Given the description of an element on the screen output the (x, y) to click on. 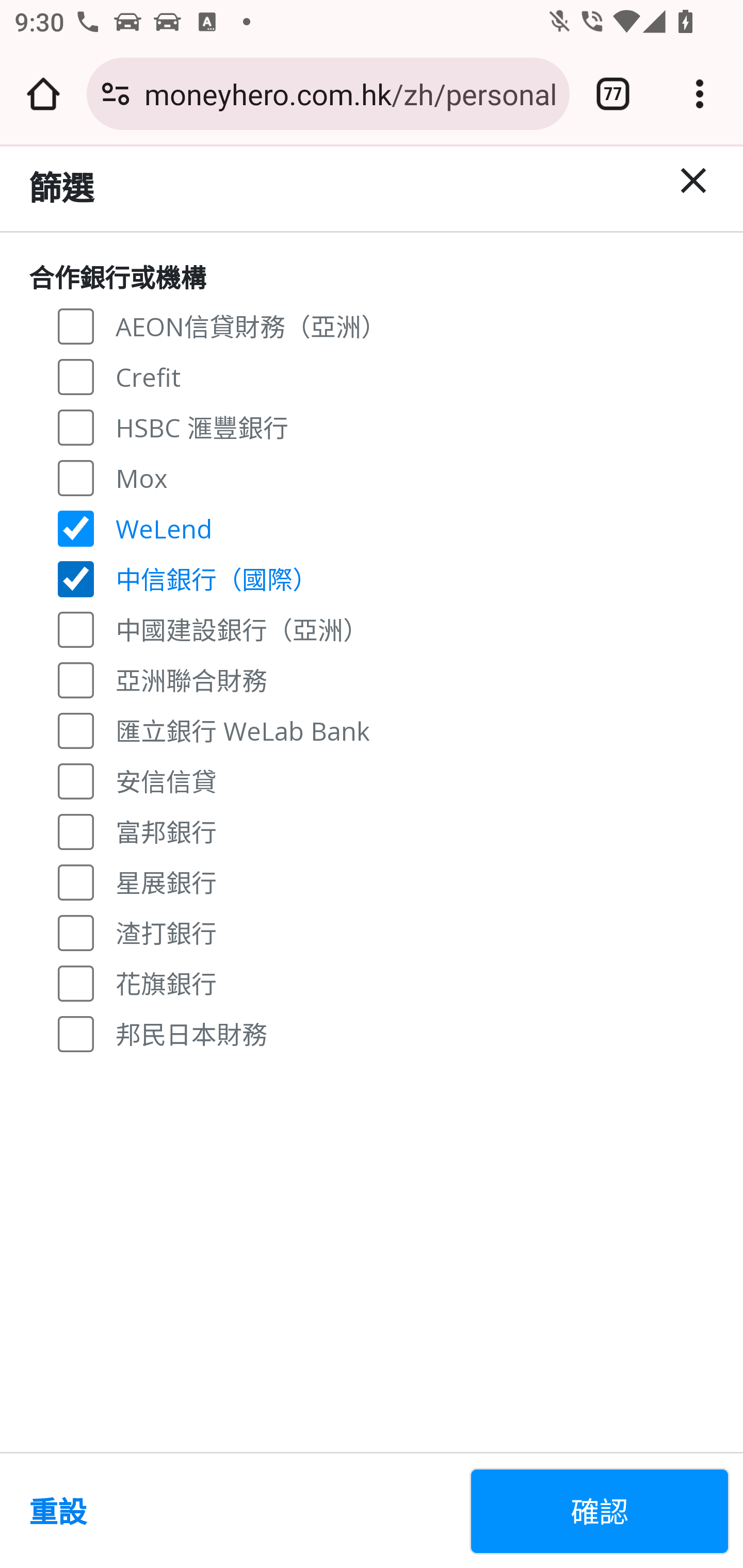
Open the home page (43, 93)
Connection is secure (115, 93)
Switch or close tabs (612, 93)
Customize and control Google Chrome (699, 93)
AEON信貸財務（亞洲） (76, 325)
Crefit (76, 376)
HSBC 滙豐銀行 (76, 426)
Mox (76, 476)
WeLend (76, 528)
中信銀行（國際） (76, 578)
中國建設銀行（亞洲） (76, 628)
亞洲聯合財務 (76, 678)
匯立銀行 WeLab Bank (76, 730)
安信信貸 (76, 780)
富邦銀行 (76, 830)
星展銀行 (76, 881)
渣打銀行 (76, 932)
花旗銀行 (76, 982)
邦民日本財務 (76, 1033)
重設 (241, 1511)
確認 (600, 1511)
